Given the description of an element on the screen output the (x, y) to click on. 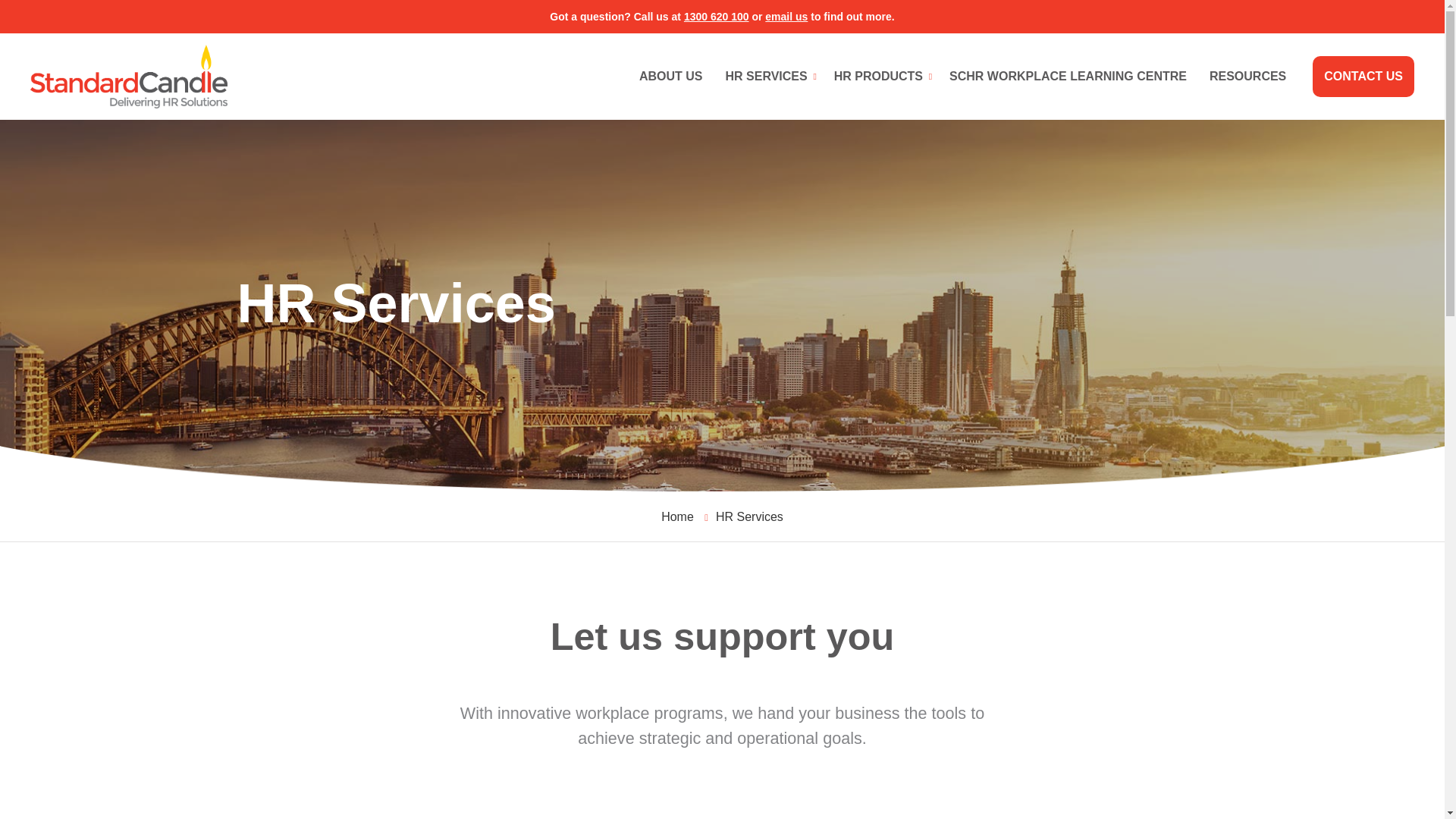
SCHR WORKPLACE LEARNING CENTRE (1067, 76)
ABOUT US (670, 76)
email us (786, 16)
HR PRODUCTS (879, 76)
CONTACT US (1363, 76)
1300 620 100 (716, 16)
Home (677, 516)
RESOURCES (1247, 76)
